Given the description of an element on the screen output the (x, y) to click on. 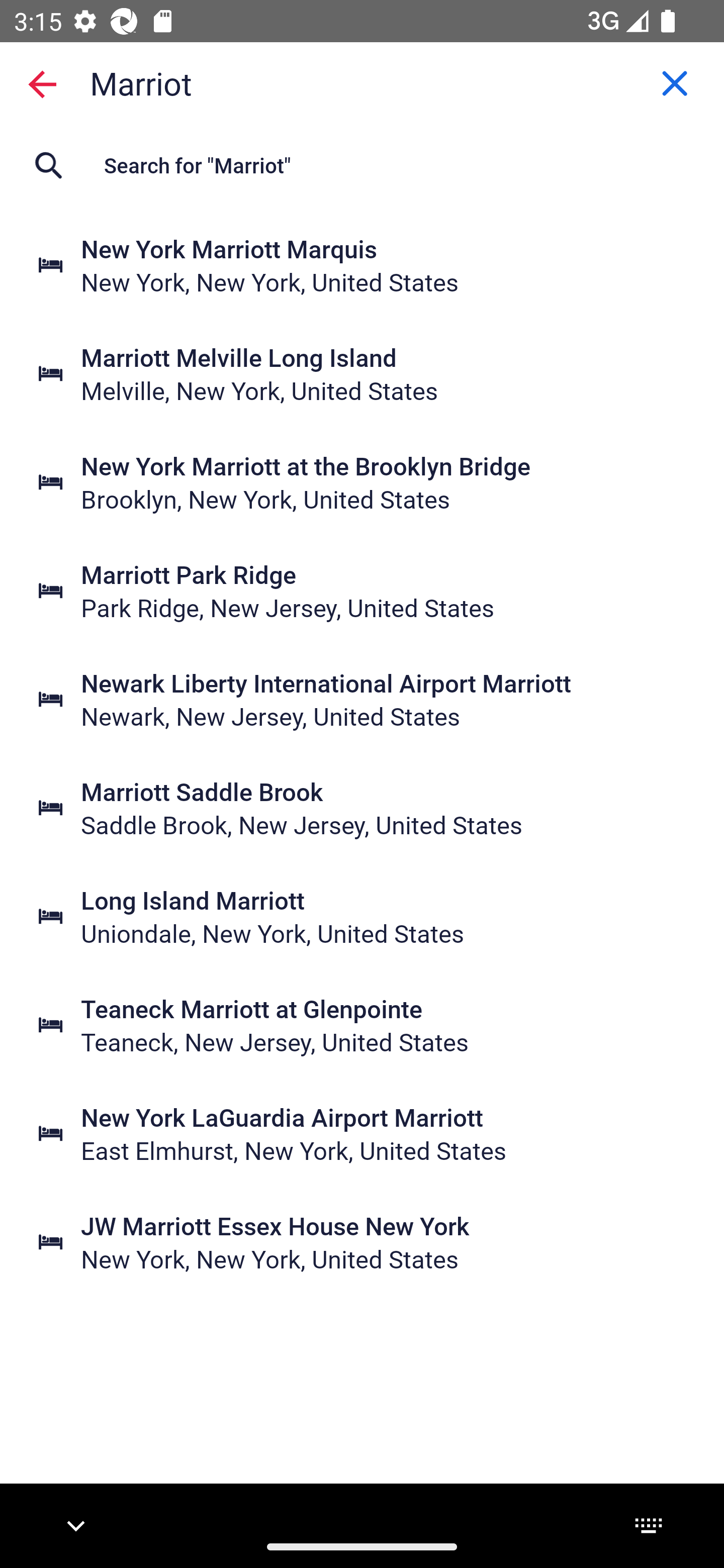
Clear query (674, 82)
Property name, Marriot (361, 82)
Back to search screen (41, 83)
Search for "Marriot" (362, 165)
